Given the description of an element on the screen output the (x, y) to click on. 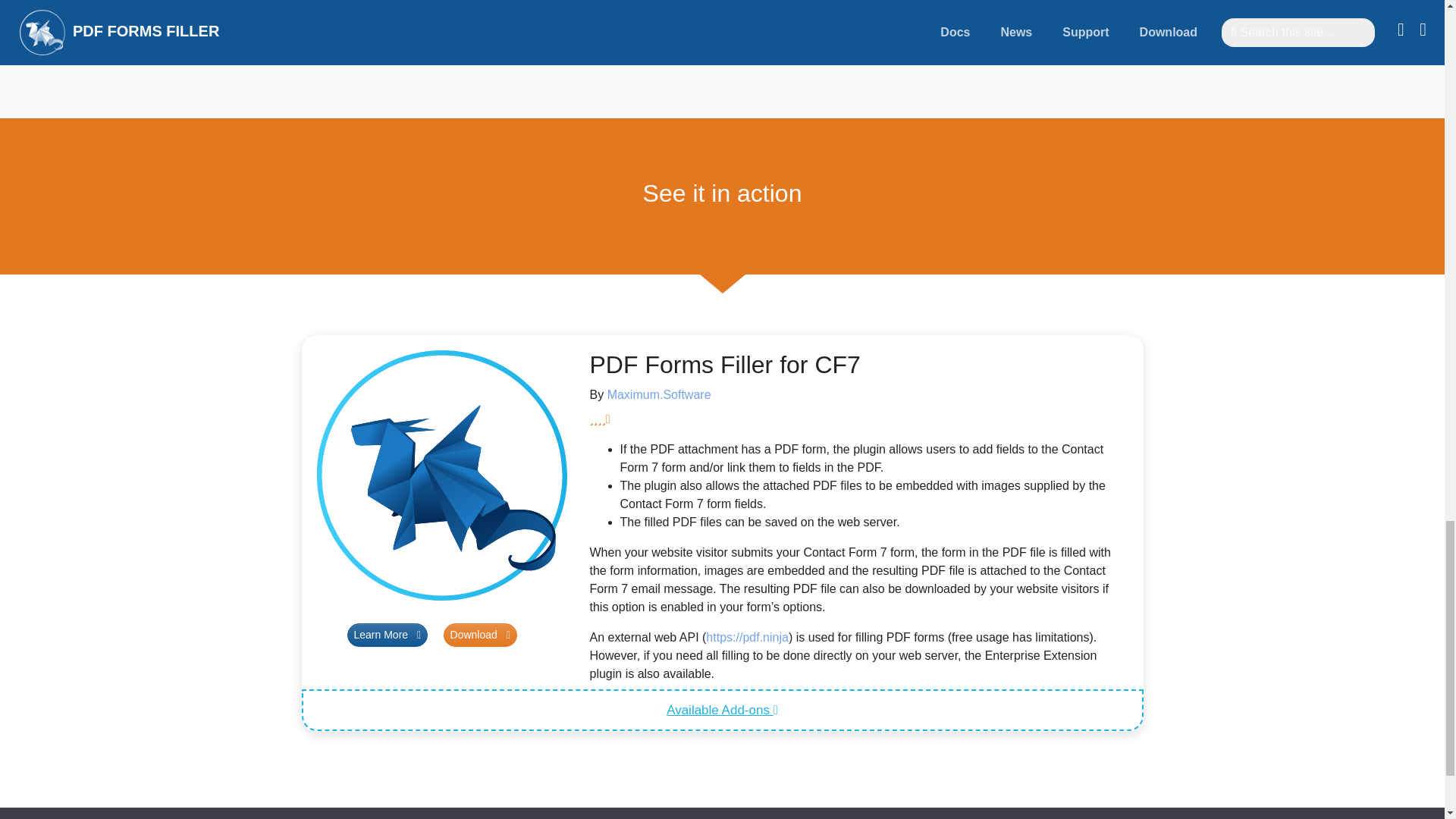
Rating 4.75 of 5 (858, 419)
Download (480, 635)
Learn More (387, 635)
Maximum.Software (659, 394)
